Given the description of an element on the screen output the (x, y) to click on. 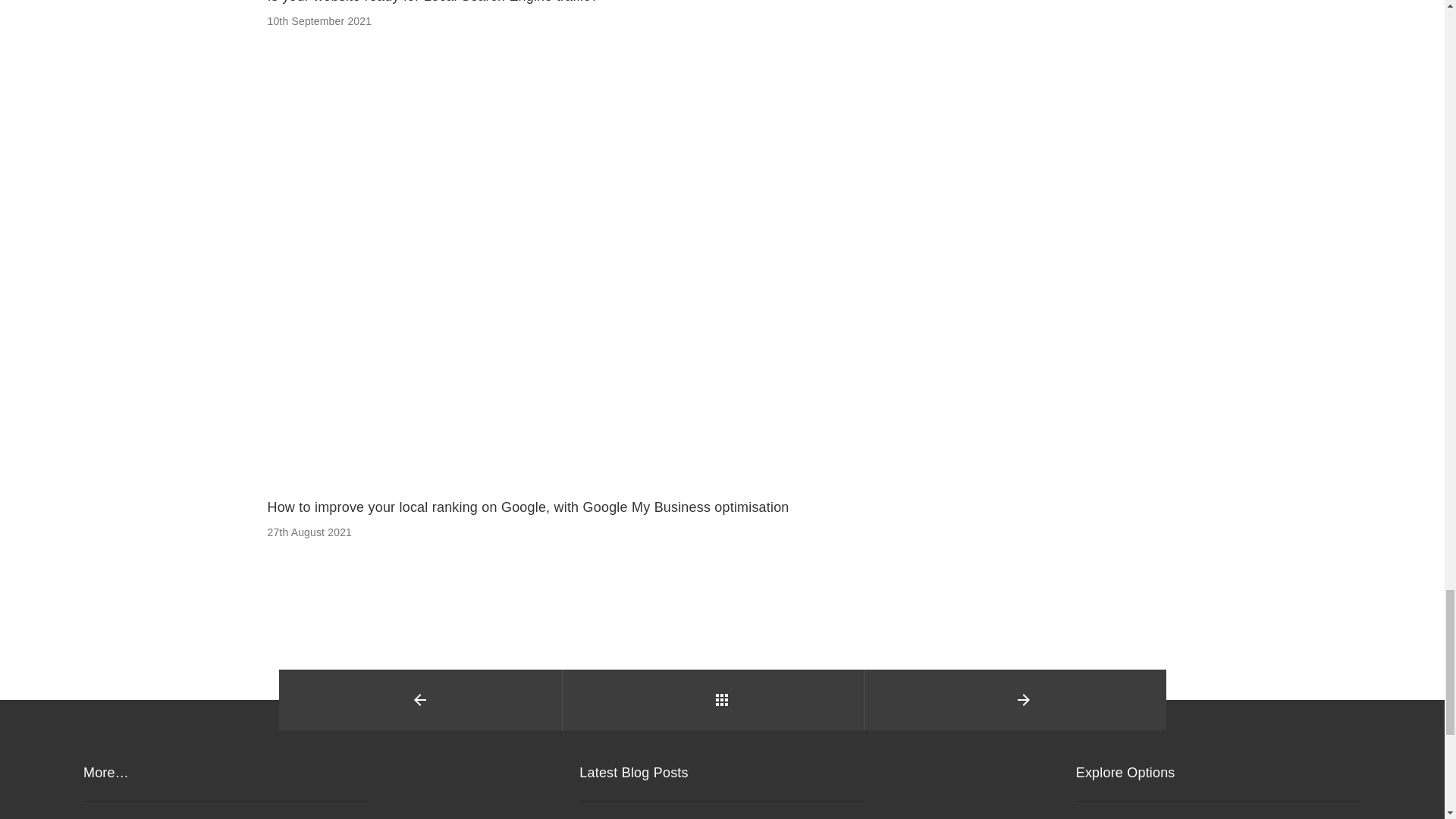
Is your website ready for Local Search Engine traffic? (431, 2)
